Given the description of an element on the screen output the (x, y) to click on. 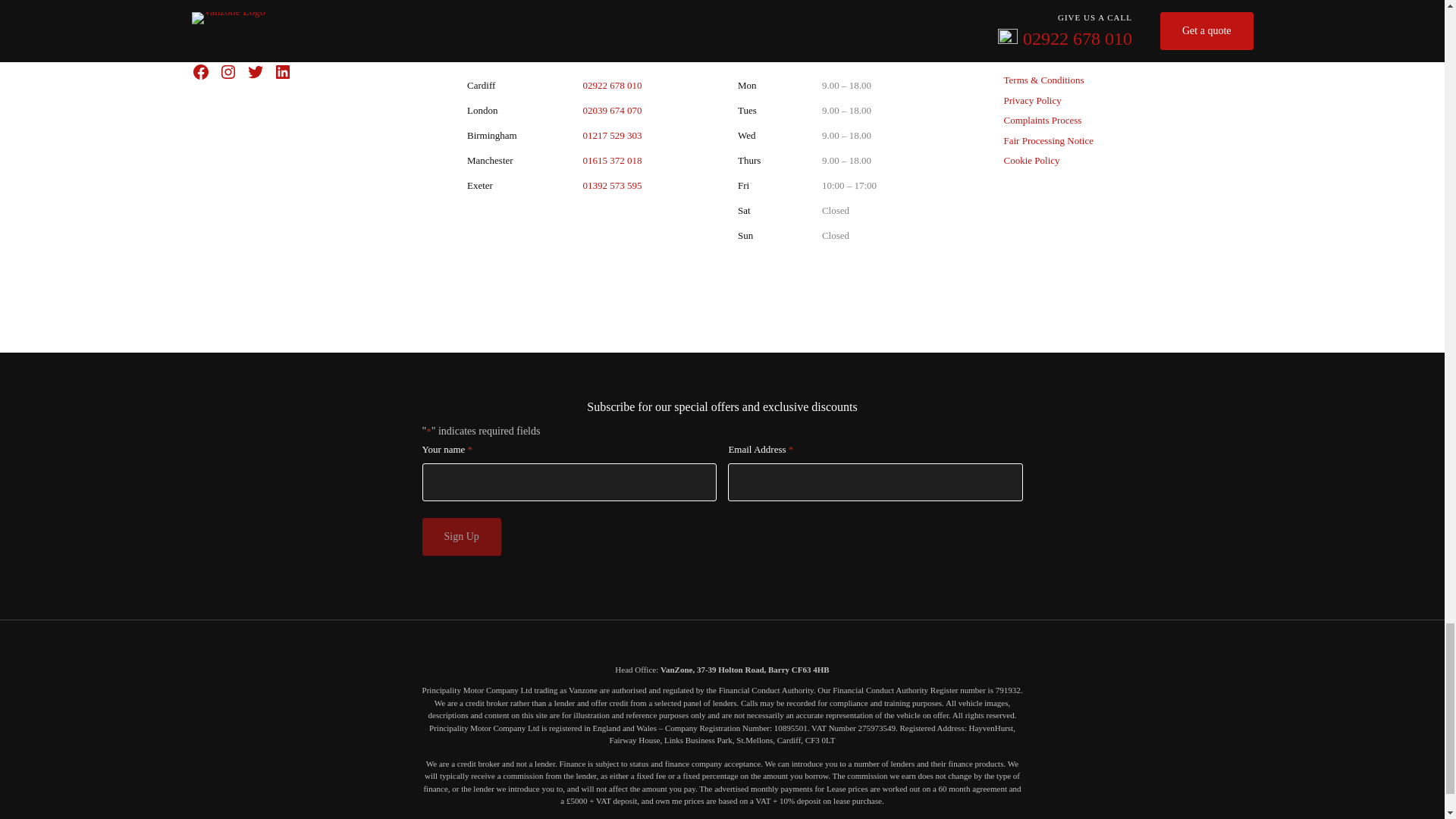
Sign Up (461, 536)
